Given the description of an element on the screen output the (x, y) to click on. 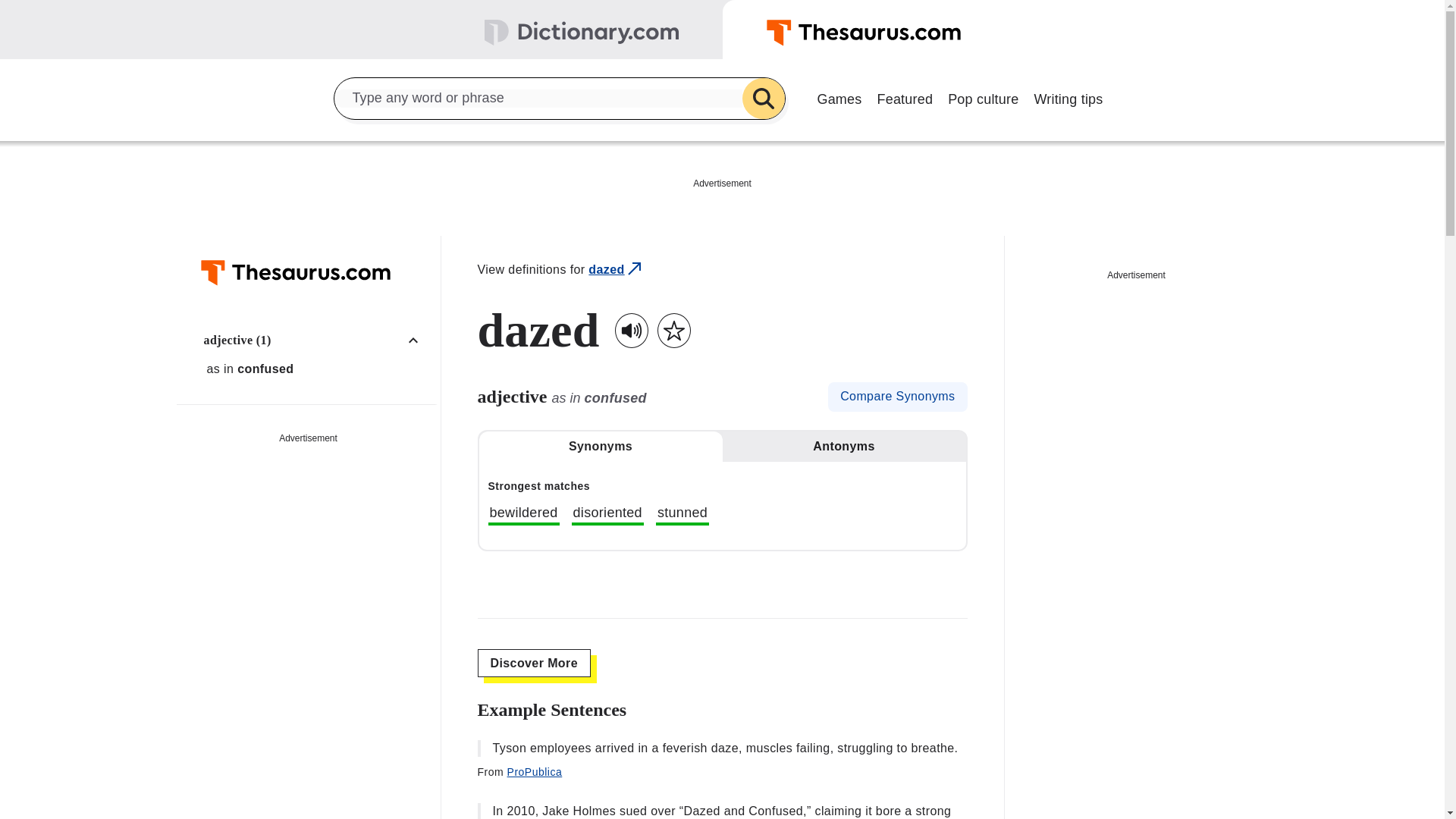
dazed (615, 270)
Synonyms (600, 446)
Featured (904, 97)
Games (839, 97)
Antonyms (843, 446)
Writing tips (1067, 97)
Compare Synonyms (897, 396)
Pop culture (983, 97)
as in confused (316, 369)
bewildered (523, 514)
